Given the description of an element on the screen output the (x, y) to click on. 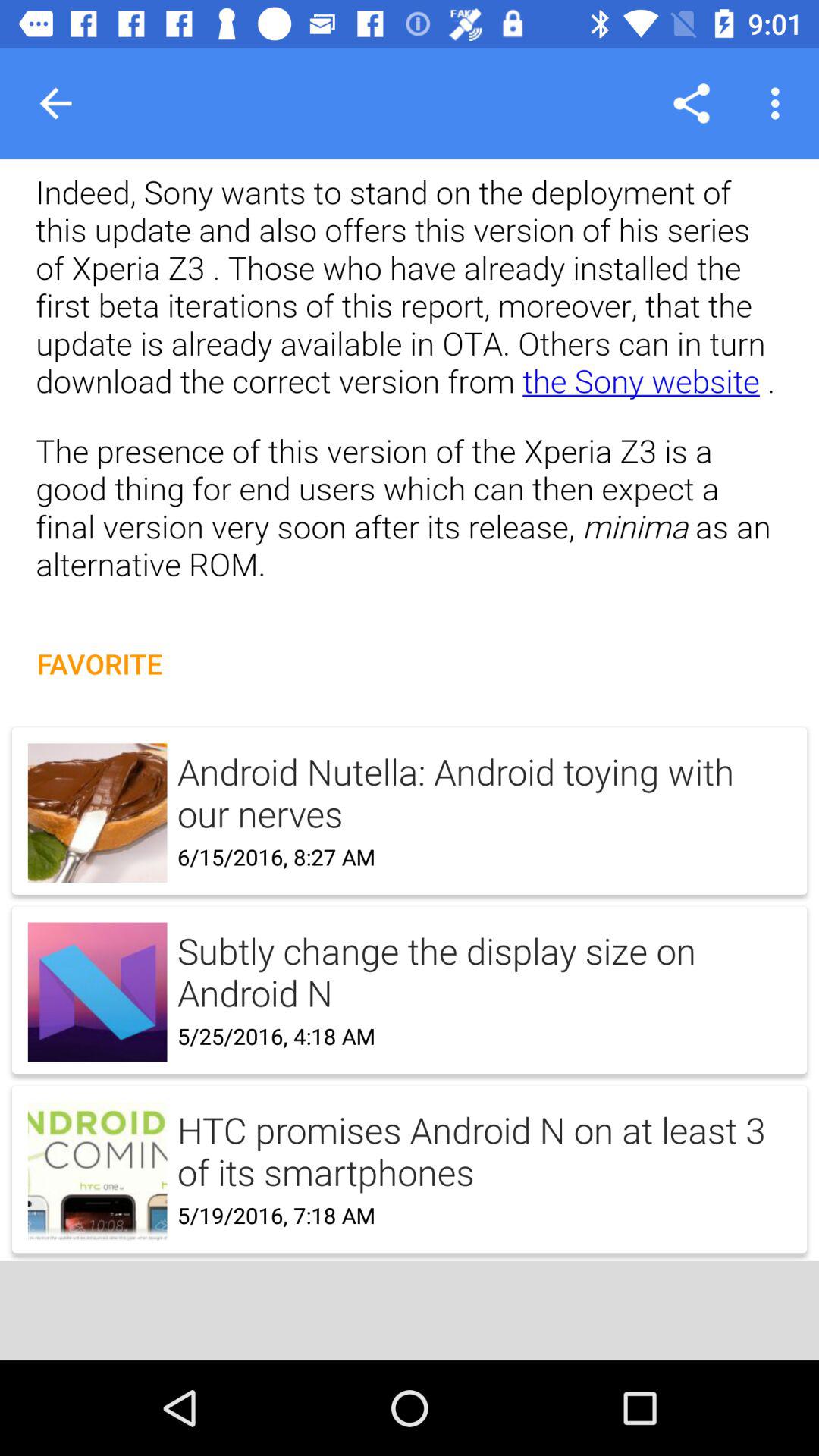
click to select (409, 973)
